Given the description of an element on the screen output the (x, y) to click on. 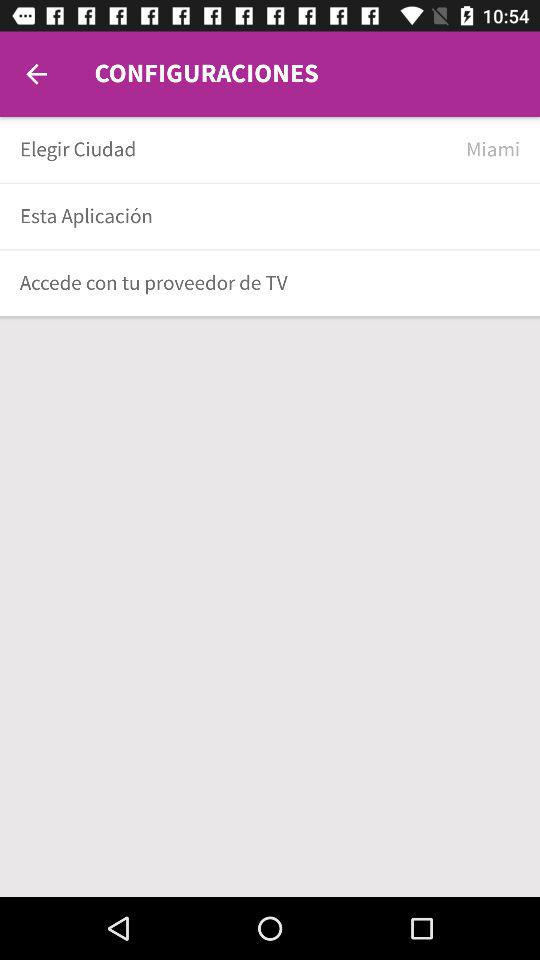
launch icon at the top left corner (36, 74)
